Given the description of an element on the screen output the (x, y) to click on. 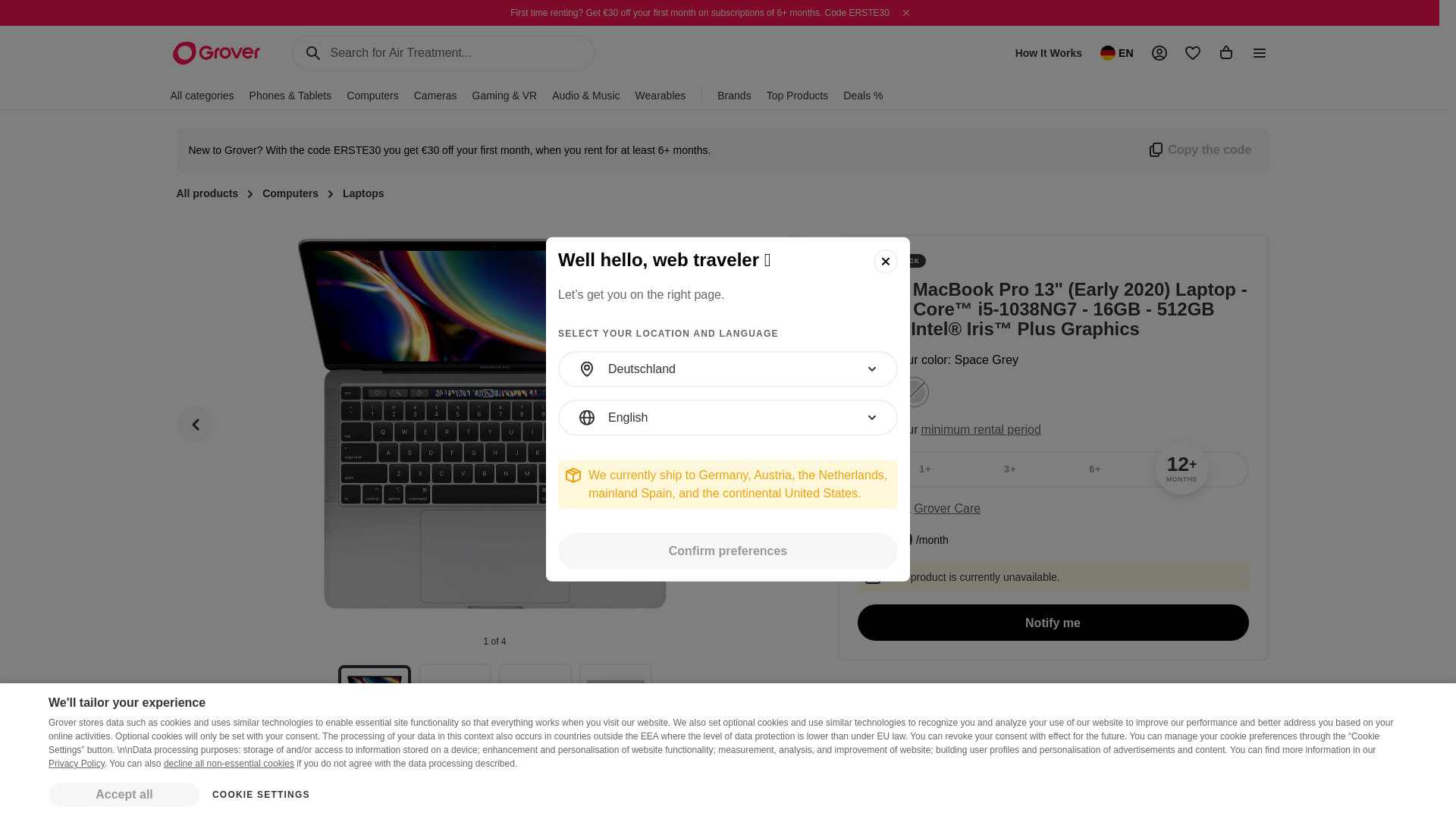
Computers (290, 193)
How It Works (1048, 53)
Laptops (363, 193)
Top Products (797, 95)
Copy the code (1198, 149)
Notify me (1052, 622)
All products (207, 193)
